Given the description of an element on the screen output the (x, y) to click on. 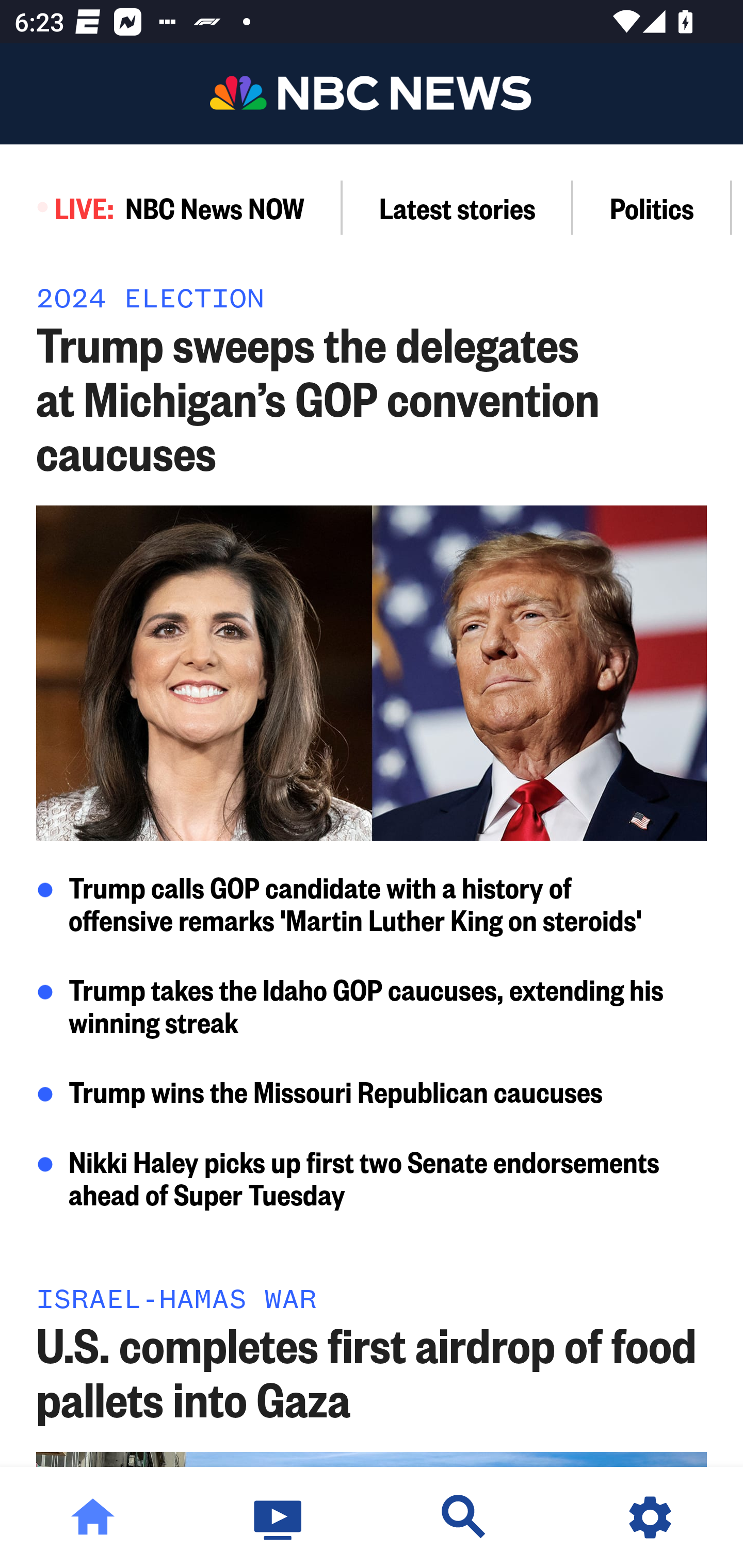
LIVE:  NBC News NOW (171, 207)
Latest stories Section,Latest stories (457, 207)
Politics Section,Politics (652, 207)
Watch (278, 1517)
Discover (464, 1517)
Settings (650, 1517)
